Given the description of an element on the screen output the (x, y) to click on. 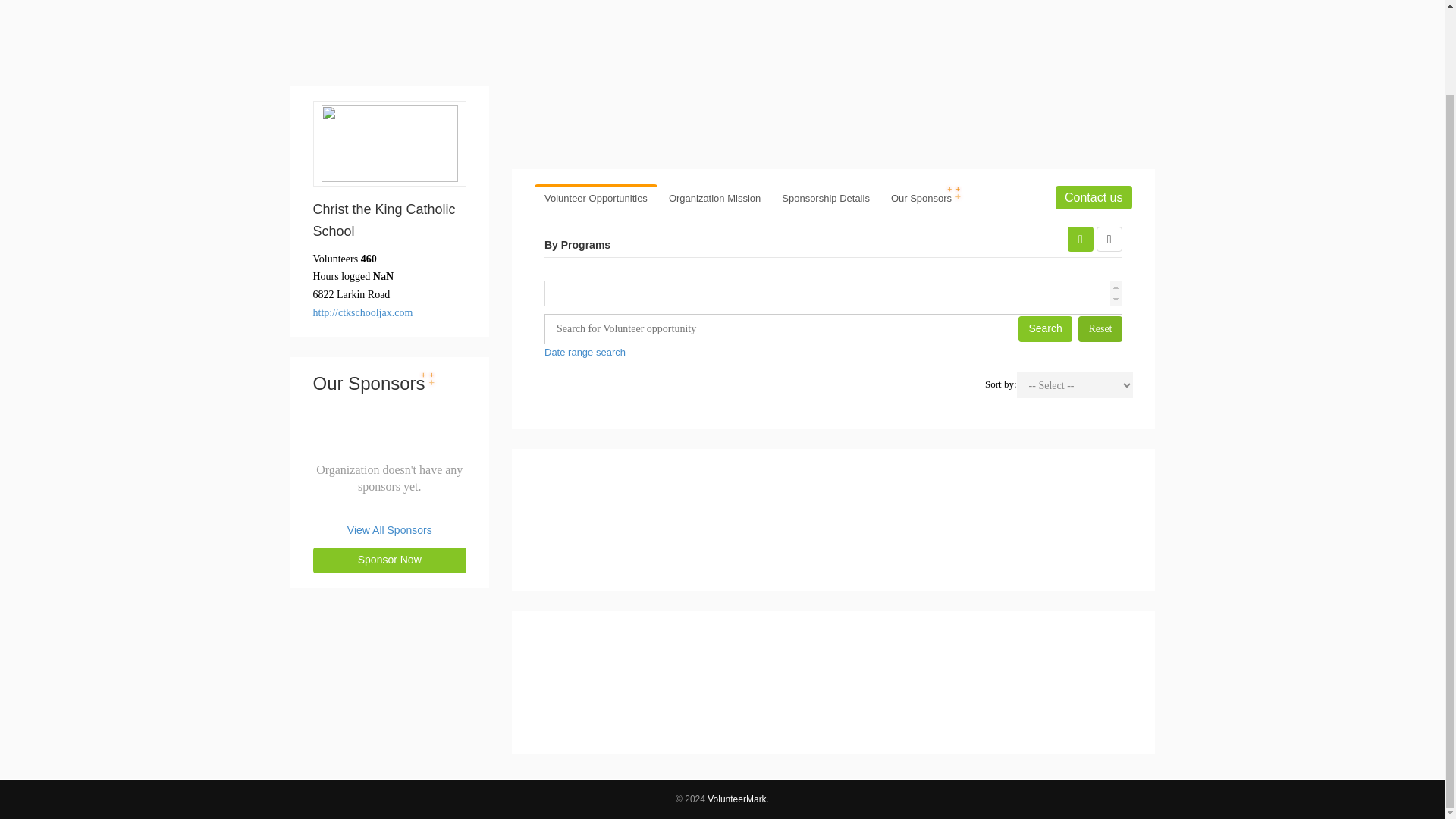
Sponsor Now (389, 560)
Contact us (920, 198)
Reset (1093, 197)
Organization Mission (1099, 329)
Show all (714, 198)
Sponsorship Details (1109, 238)
List View (825, 198)
Volunteer Opportunities (1080, 238)
View All Sponsors (596, 198)
